Given the description of an element on the screen output the (x, y) to click on. 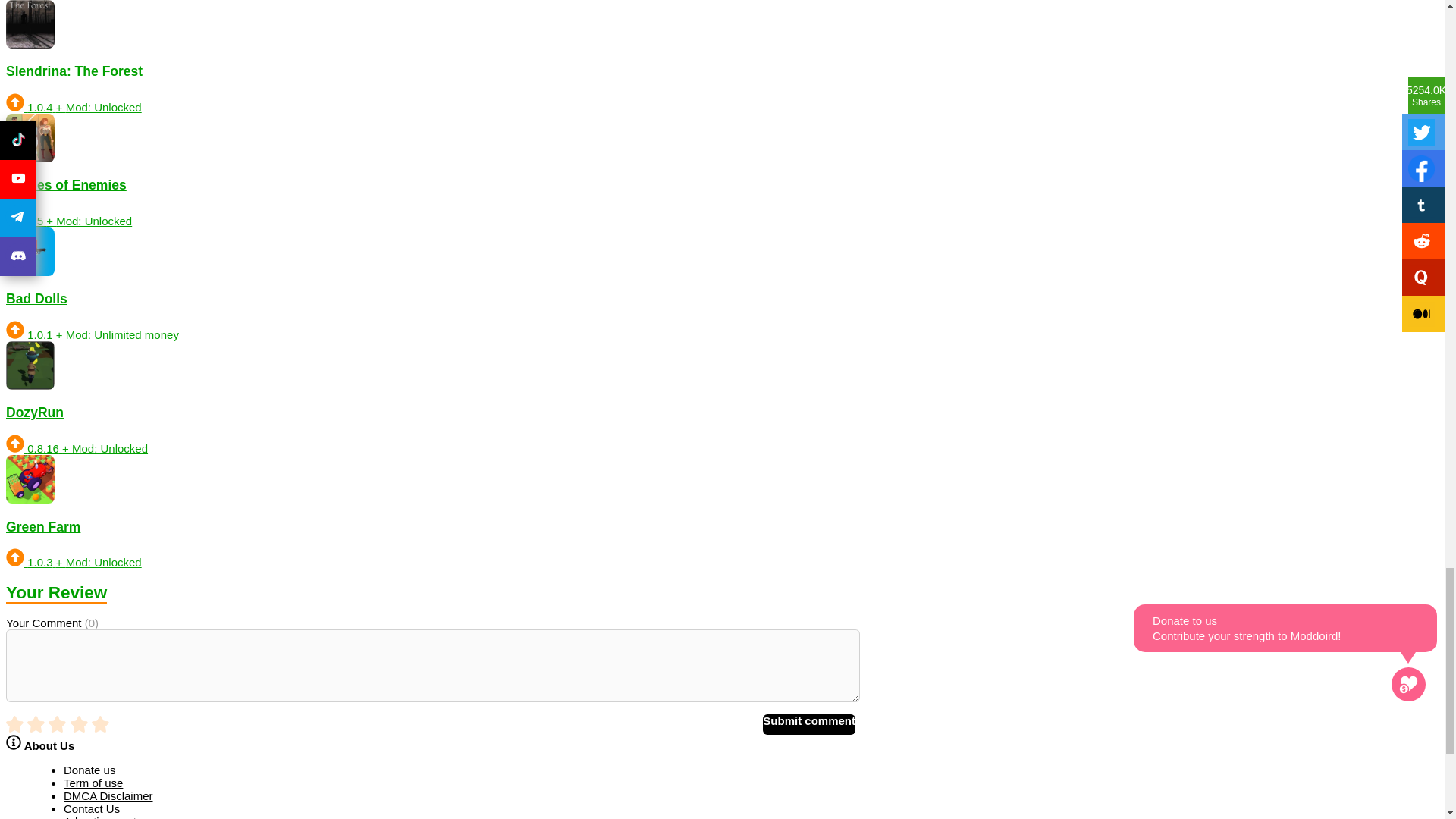
Bad Dolls (430, 284)
Green Farm (430, 511)
Slendrina: The Forest (430, 56)
Hordes of Enemies (430, 170)
DozyRun (430, 398)
